Given the description of an element on the screen output the (x, y) to click on. 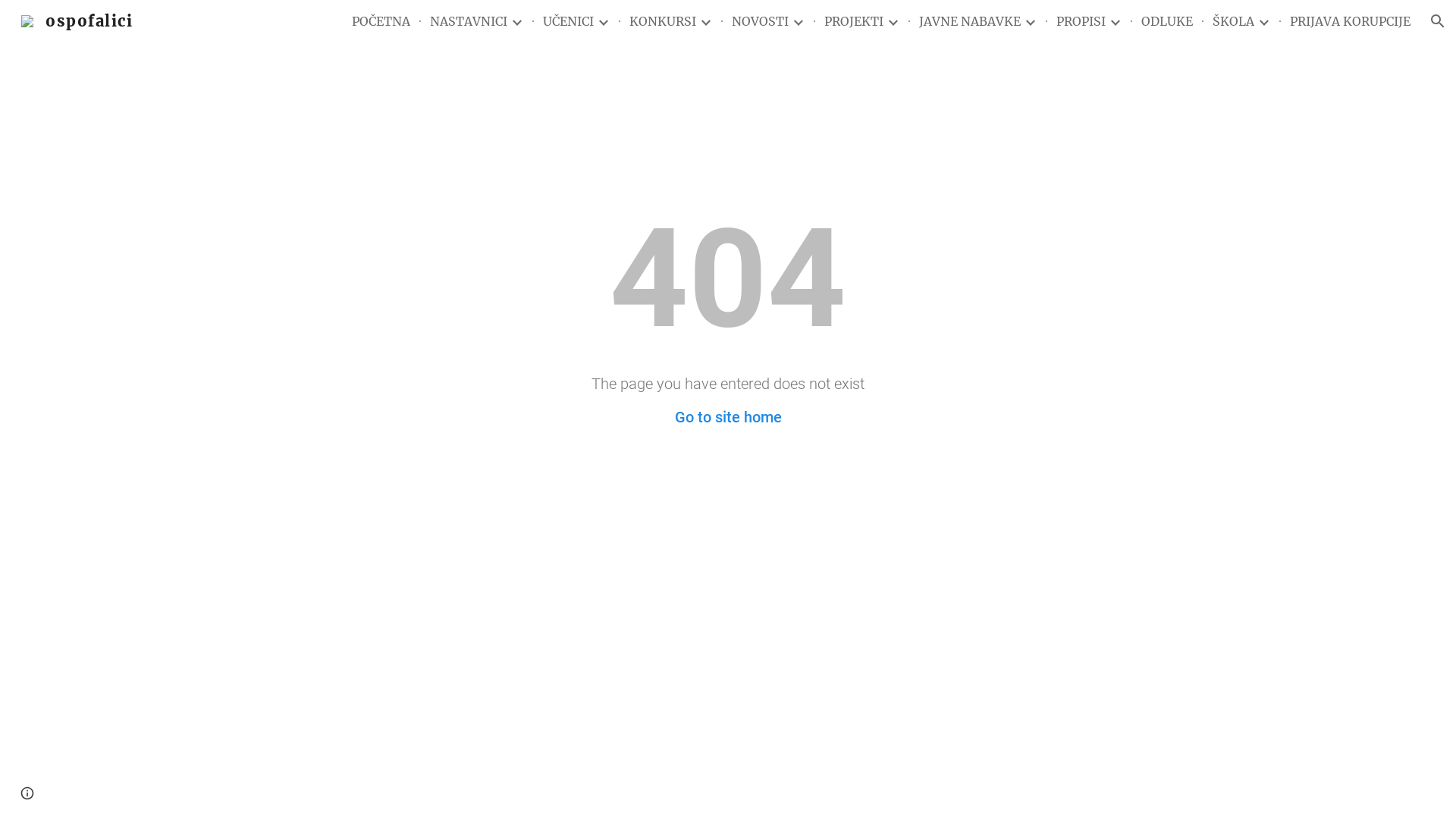
NOVOSTI Element type: text (759, 20)
PROJEKTI Element type: text (853, 20)
Expand/Collapse Element type: hover (1029, 20)
Expand/Collapse Element type: hover (797, 20)
ODLUKE Element type: text (1166, 20)
NASTAVNICI Element type: text (468, 20)
PROPISI Element type: text (1080, 20)
Expand/Collapse Element type: hover (1263, 20)
Expand/Collapse Element type: hover (705, 20)
Expand/Collapse Element type: hover (892, 20)
Expand/Collapse Element type: hover (516, 20)
KONKURSI Element type: text (662, 20)
JAVNE NABAVKE Element type: text (969, 20)
Expand/Collapse Element type: hover (602, 20)
PRIJAVA KORUPCIJE Element type: text (1349, 20)
Go to site home Element type: text (727, 416)
ospofalici Element type: text (76, 19)
Expand/Collapse Element type: hover (1114, 20)
